Given the description of an element on the screen output the (x, y) to click on. 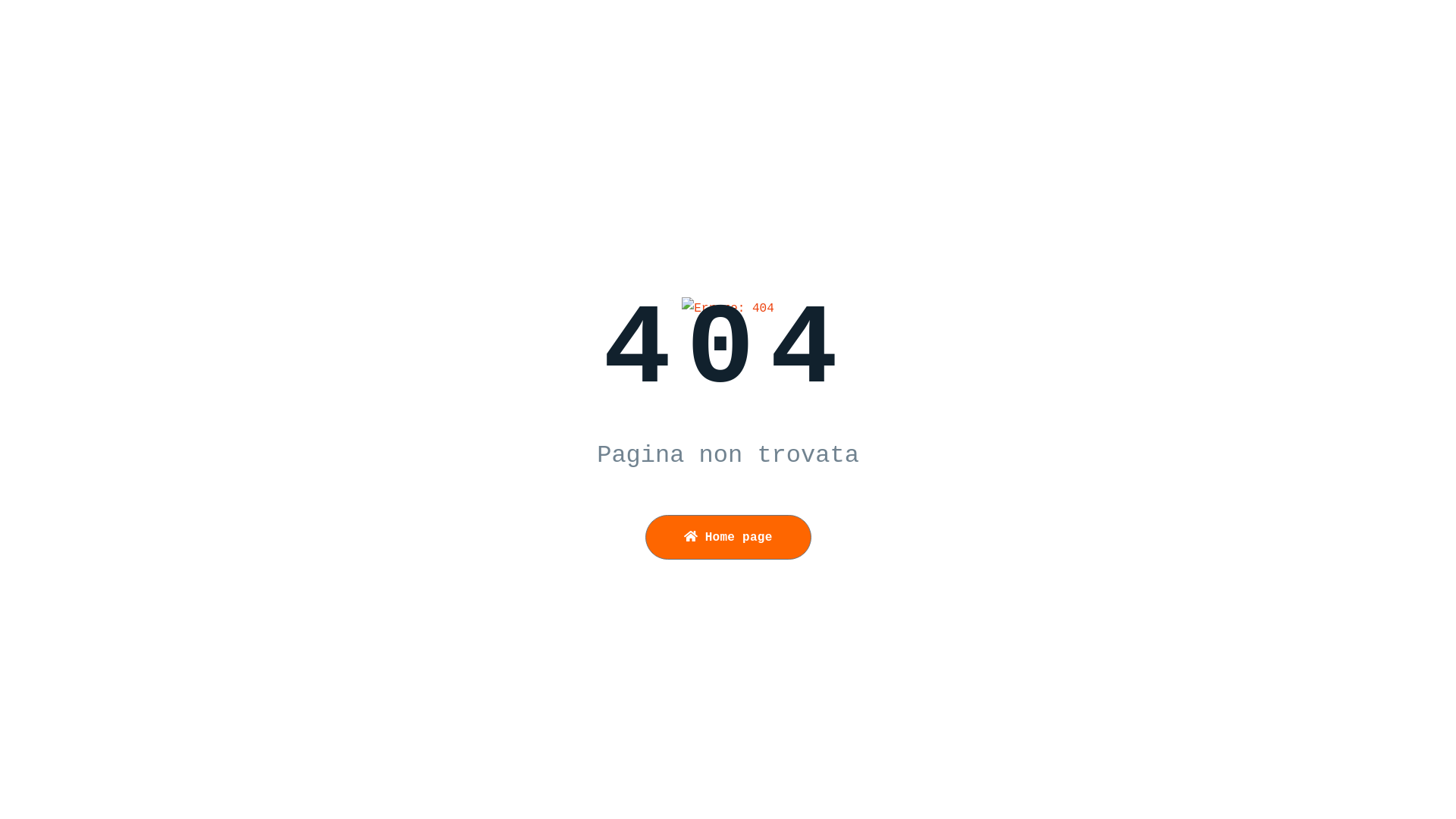
Home page Element type: text (727, 536)
